Given the description of an element on the screen output the (x, y) to click on. 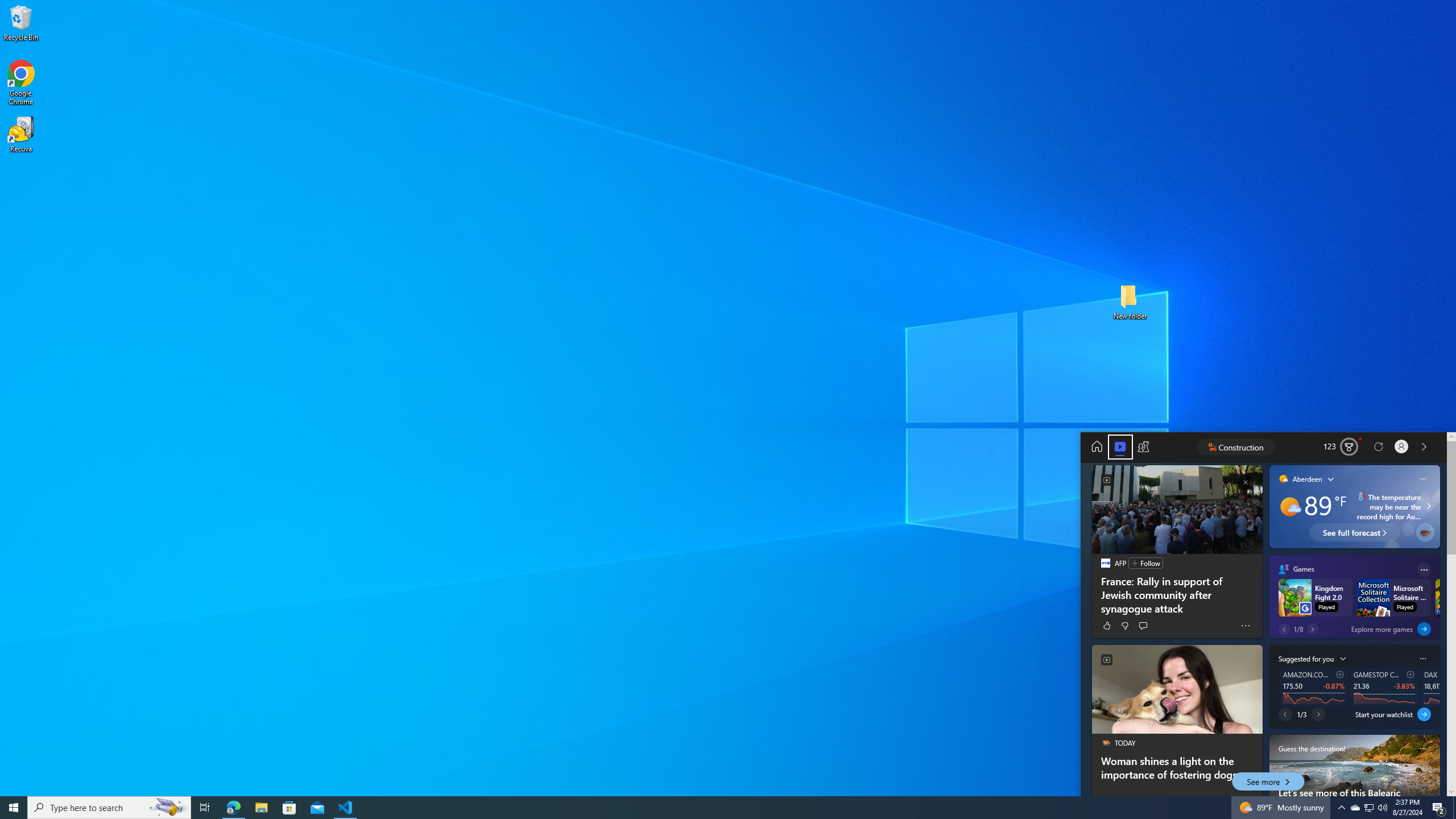
Microsoft Edge - 1 running window (233, 807)
Type here to search (108, 807)
File Explorer (261, 807)
Running applications (717, 807)
